Given the description of an element on the screen output the (x, y) to click on. 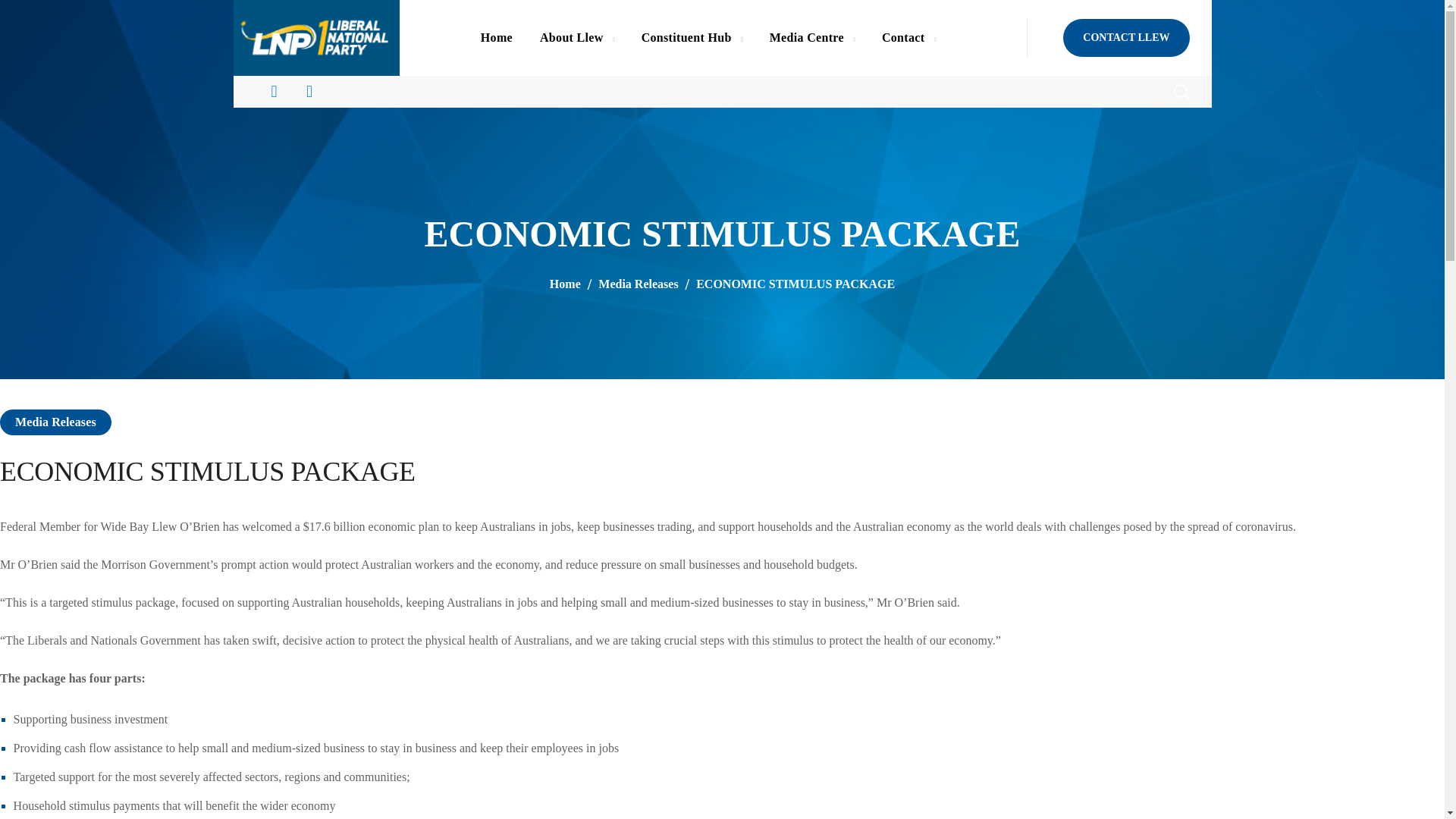
Media Centre (811, 38)
Contact (908, 38)
CONTACT LLEW (1125, 37)
Search (1141, 137)
About Llew (576, 38)
Constituent Hub (691, 38)
